Given the description of an element on the screen output the (x, y) to click on. 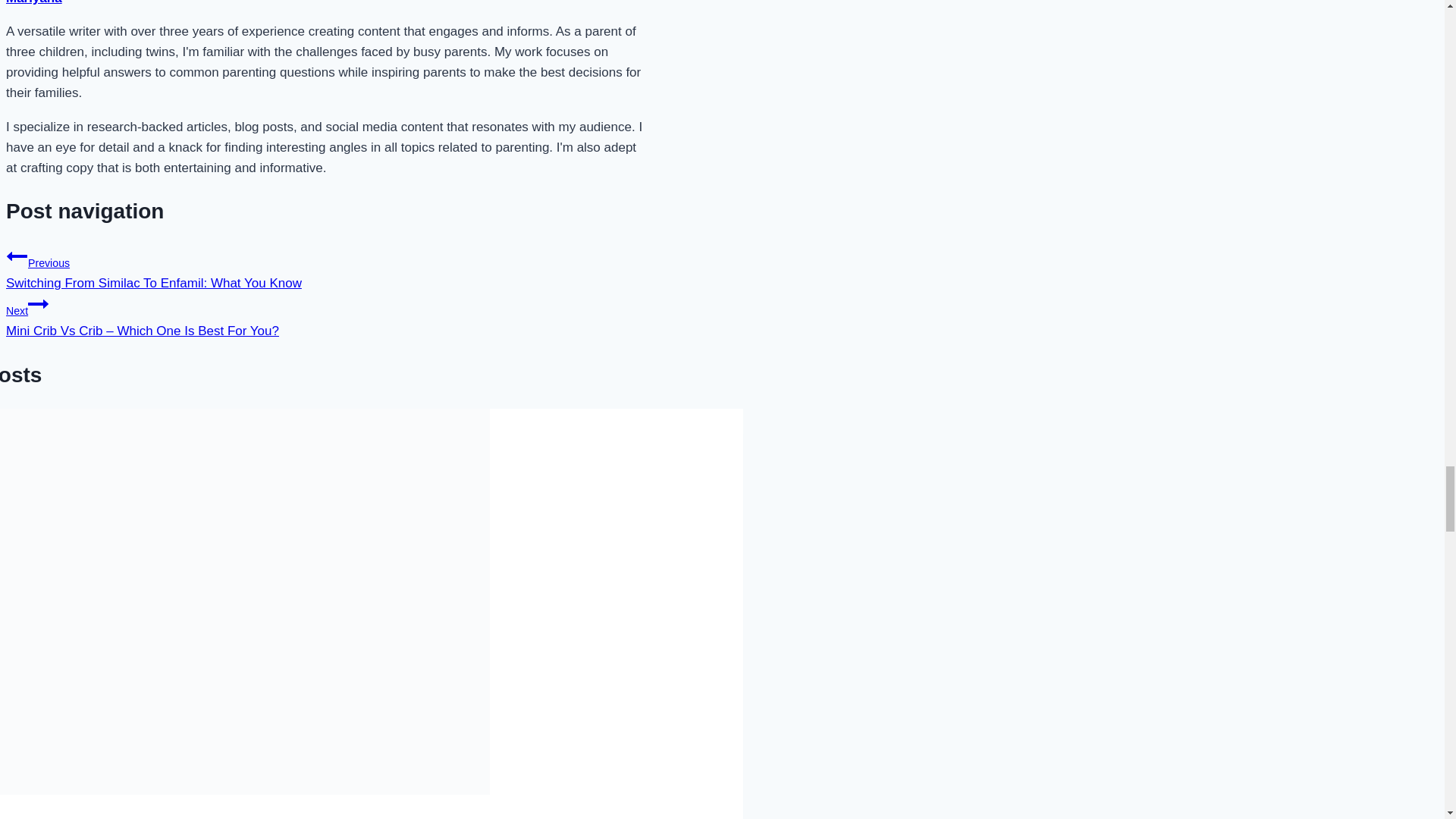
Posts by Mariyana (33, 2)
Continue (37, 303)
Mariyana (33, 2)
Previous (16, 255)
